Given the description of an element on the screen output the (x, y) to click on. 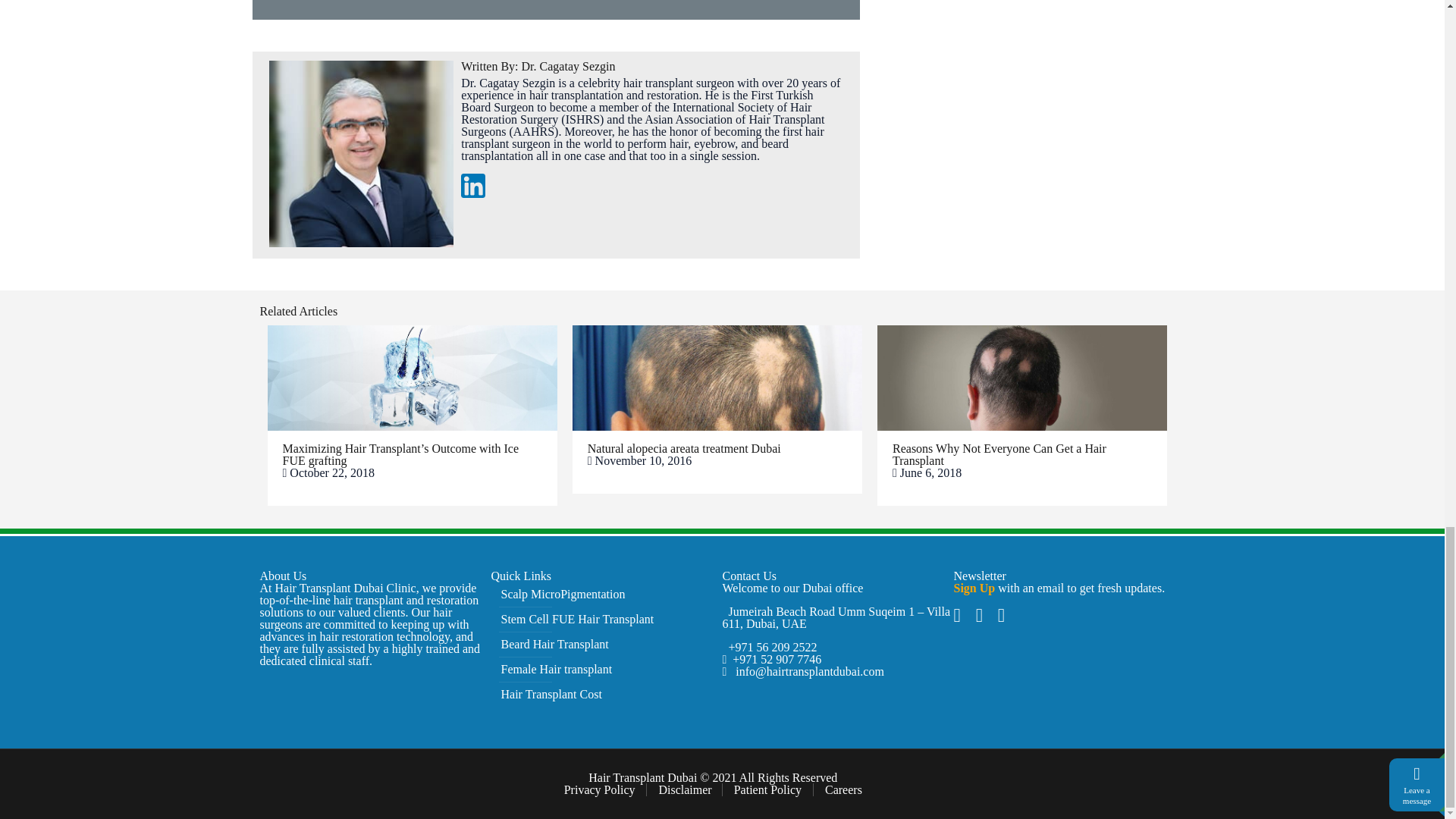
Natural alopecia areata treatment Dubai (684, 448)
Reasons Why Not Everyone Can Get a Hair Transplant (999, 454)
